Given the description of an element on the screen output the (x, y) to click on. 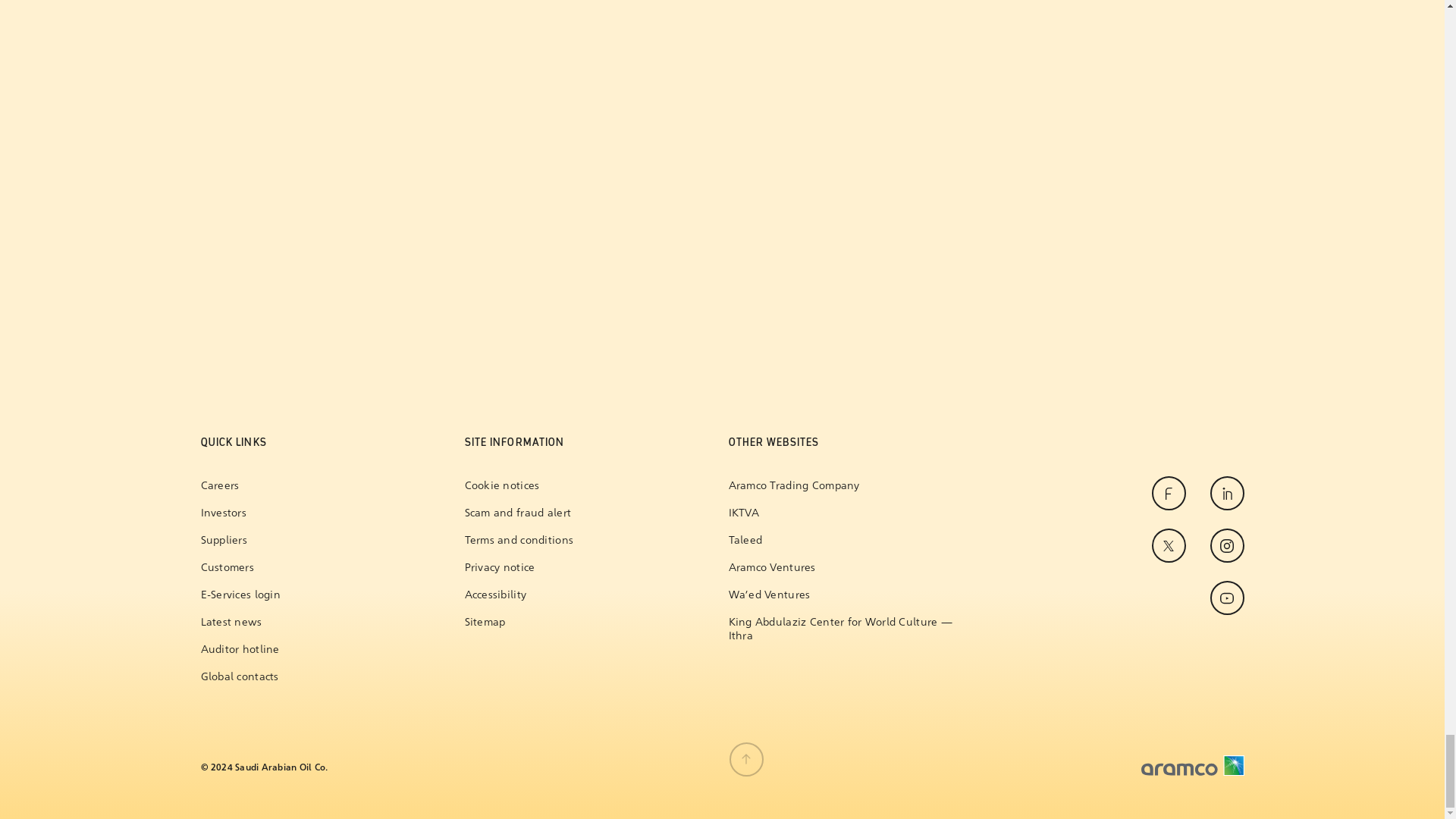
Careers (239, 486)
Aramco (1191, 765)
Taleed (845, 540)
E-Services login (239, 594)
Latest news (239, 622)
Sitemap (518, 622)
Cookie notices (518, 486)
Privacy notice (518, 567)
Investors (239, 513)
Scam and fraud alert (518, 513)
